Given the description of an element on the screen output the (x, y) to click on. 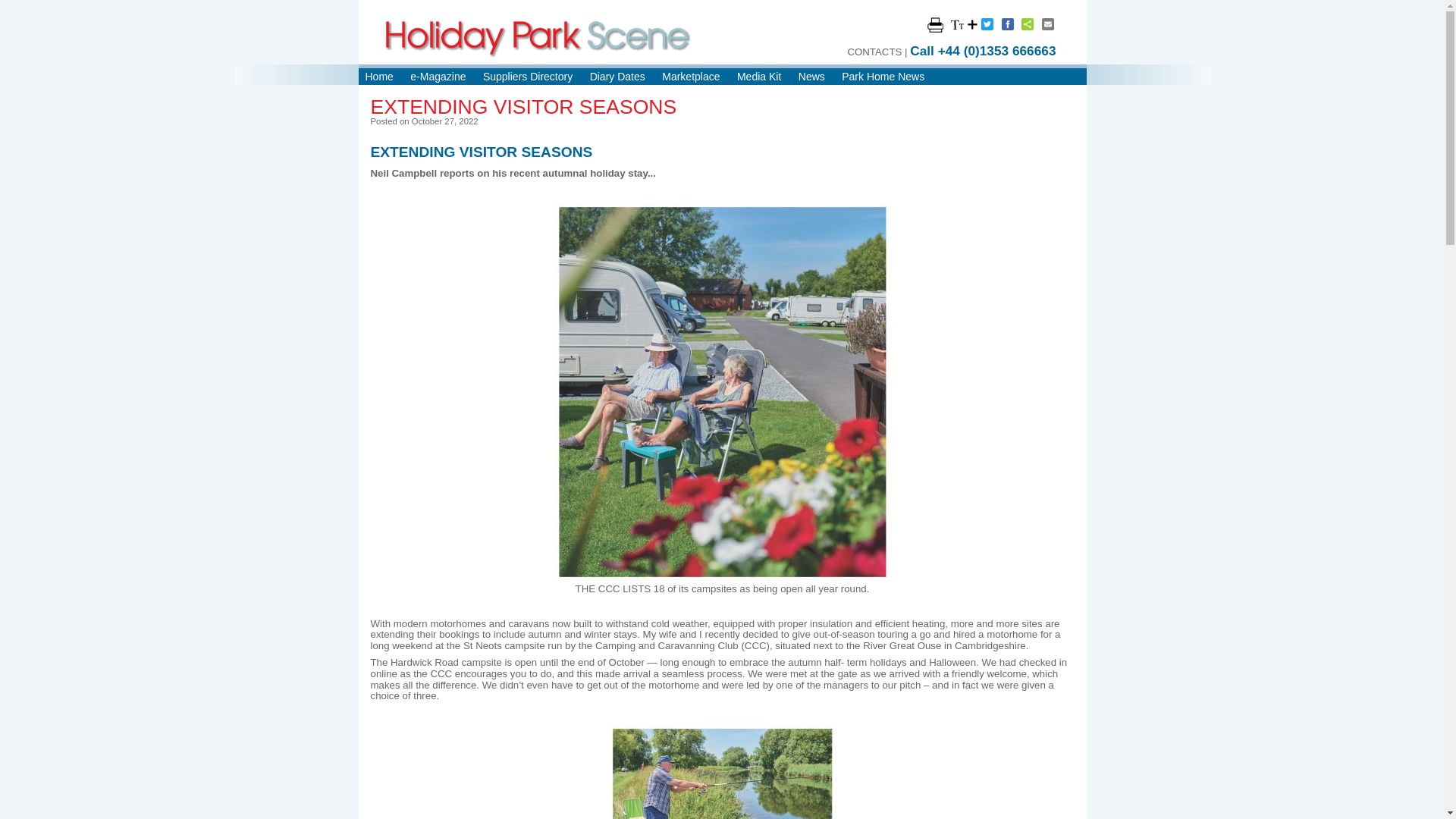
Suppliers Directory (527, 76)
Diary Dates (616, 76)
Increase Text Size (963, 24)
CONTACTS (874, 51)
Marketplace (690, 76)
Holiday Park Scene Magazine (538, 38)
Home (379, 76)
Holiday Park Scene Magazine (538, 38)
e-Magazine (437, 76)
Park Home News (882, 76)
